Given the description of an element on the screen output the (x, y) to click on. 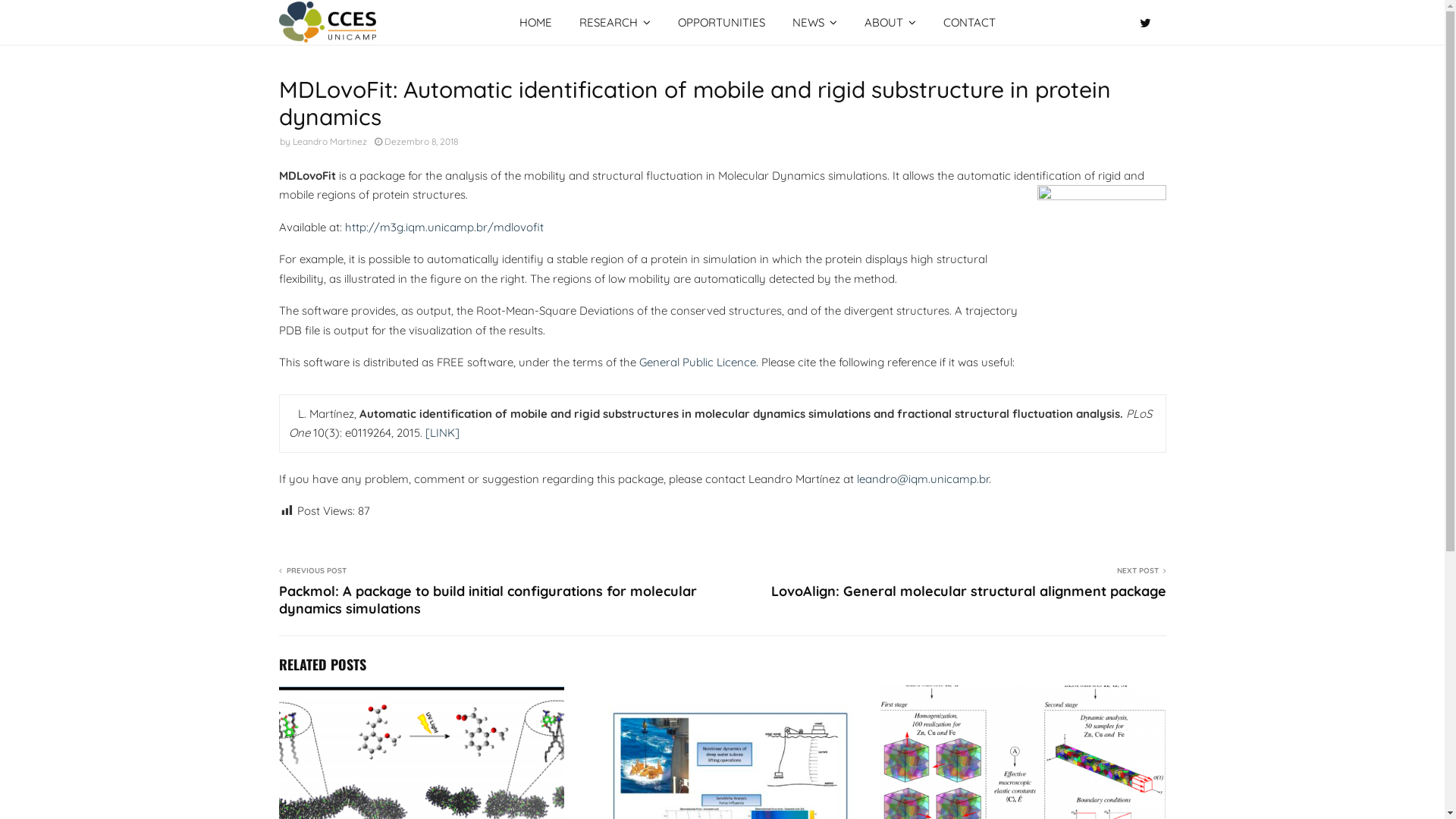
HOME Element type: text (535, 22)
General Public Licence. Element type: text (697, 361)
OPPORTUNITIES Element type: text (721, 22)
CONTACT Element type: text (969, 22)
LovoAlign: General molecular structural alignment package Element type: text (967, 590)
NEWS Element type: text (814, 22)
ABOUT Element type: text (889, 22)
[LINK] Element type: text (441, 432)
Leandro Martinez Element type: text (329, 141)
RESEARCH Element type: text (614, 22)
leandro@iqm.unicamp.br Element type: text (922, 478)
Twitter Element type: hover (1148, 22)
http://m3g.iqm.unicamp.br/mdlovofit Element type: text (443, 226)
